Given the description of an element on the screen output the (x, y) to click on. 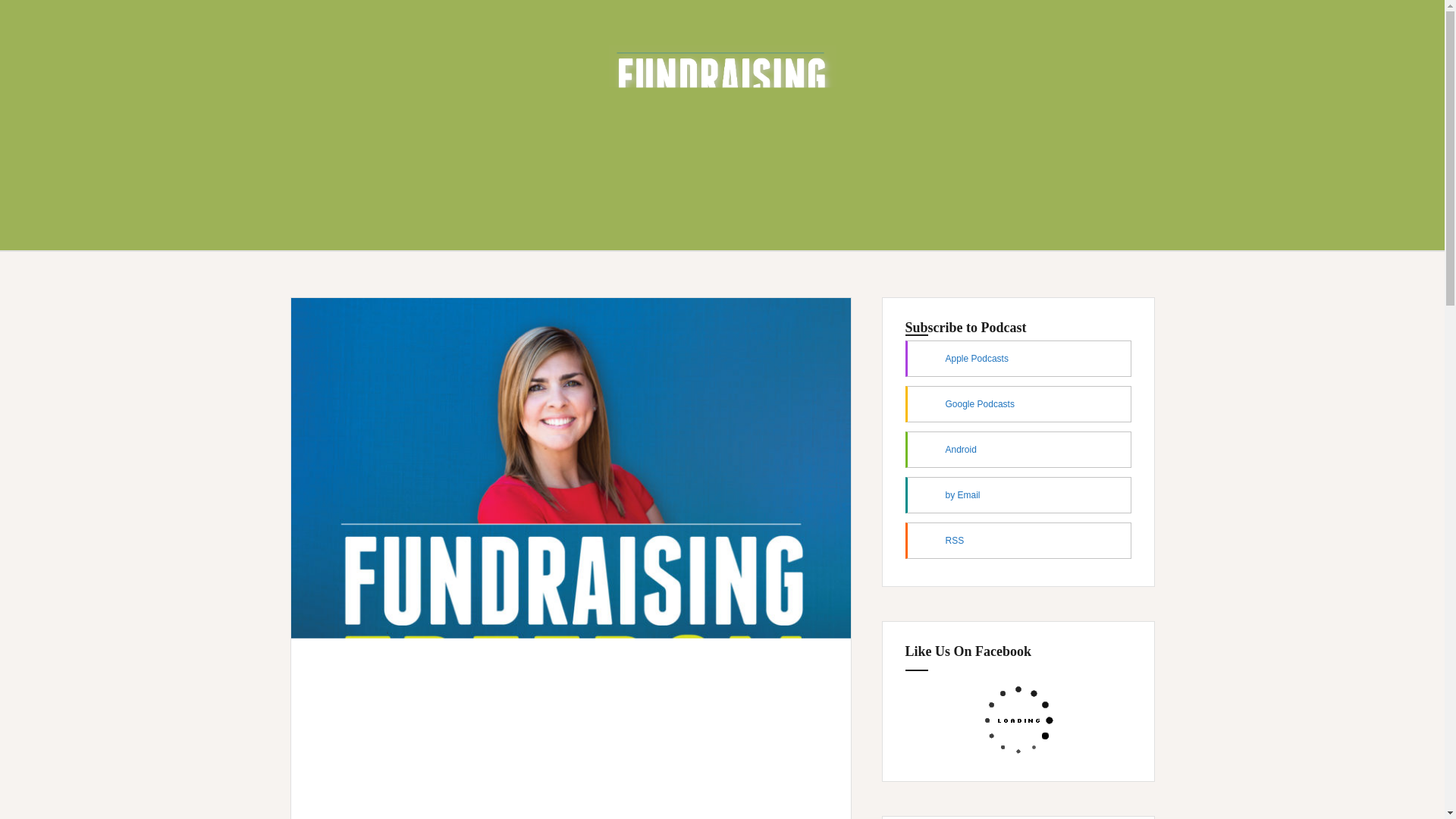
Apple Podcasts (1018, 358)
by Email (1018, 494)
Subscribe via RSS (1018, 540)
Google Podcasts (1018, 403)
Subscribe on Android (1018, 449)
Subscribe on Apple Podcasts (1018, 358)
Subscribe on Google Podcasts (1018, 403)
RSS (1018, 540)
Android (1018, 449)
